Given the description of an element on the screen output the (x, y) to click on. 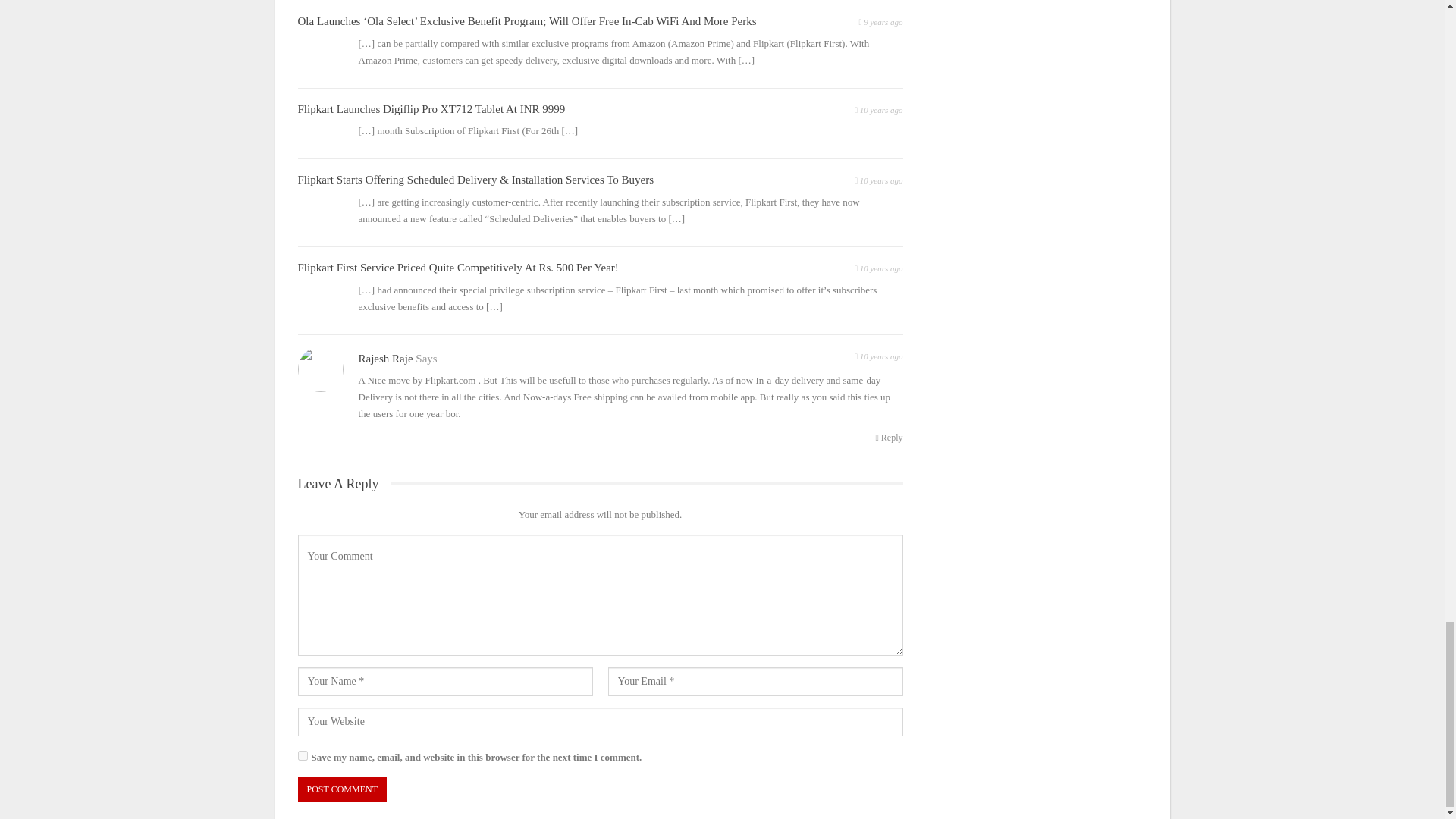
yes (302, 755)
Post Comment (341, 789)
